Given the description of an element on the screen output the (x, y) to click on. 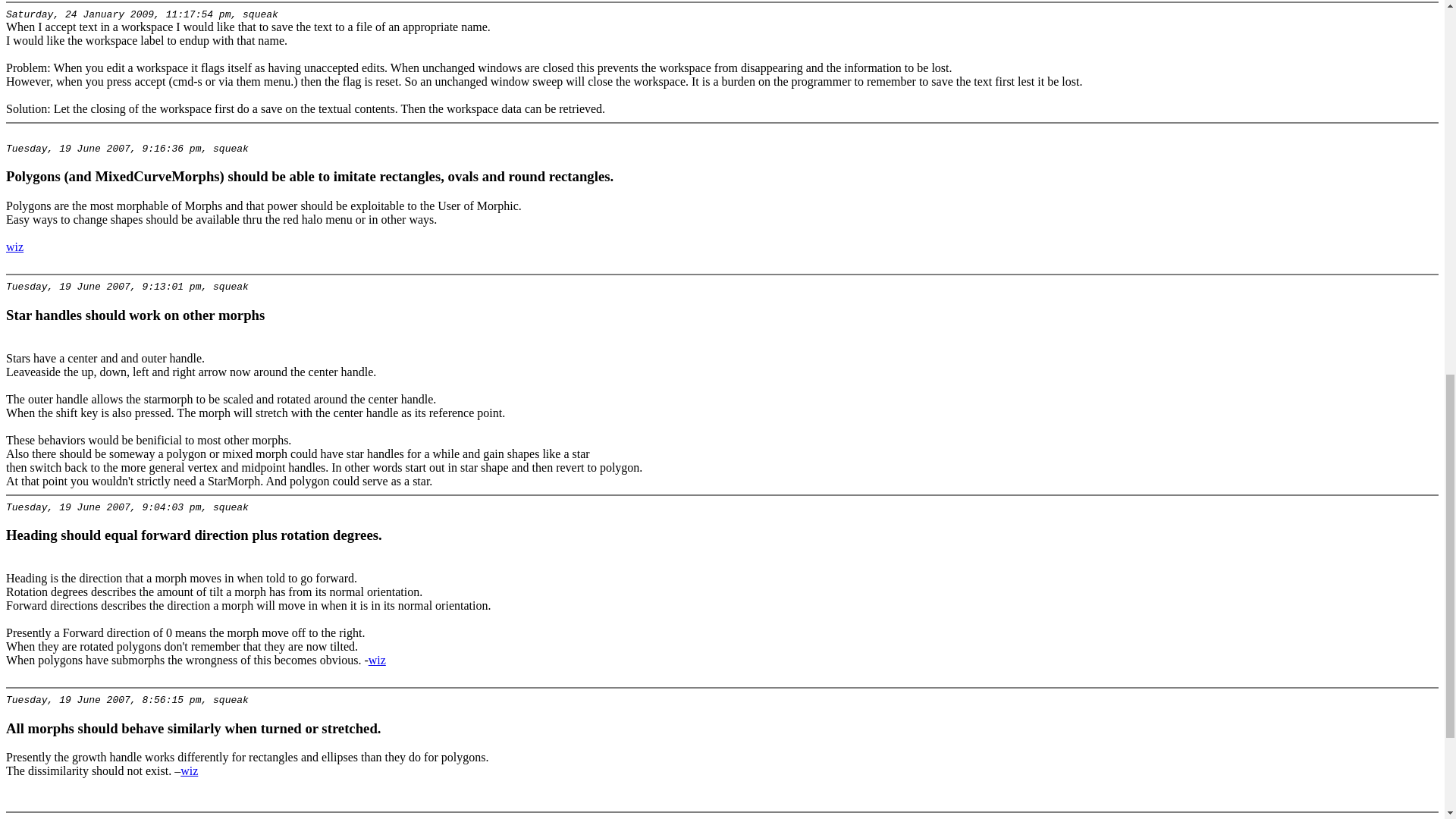
wiz (376, 659)
wiz (14, 246)
wiz (189, 770)
